Given the description of an element on the screen output the (x, y) to click on. 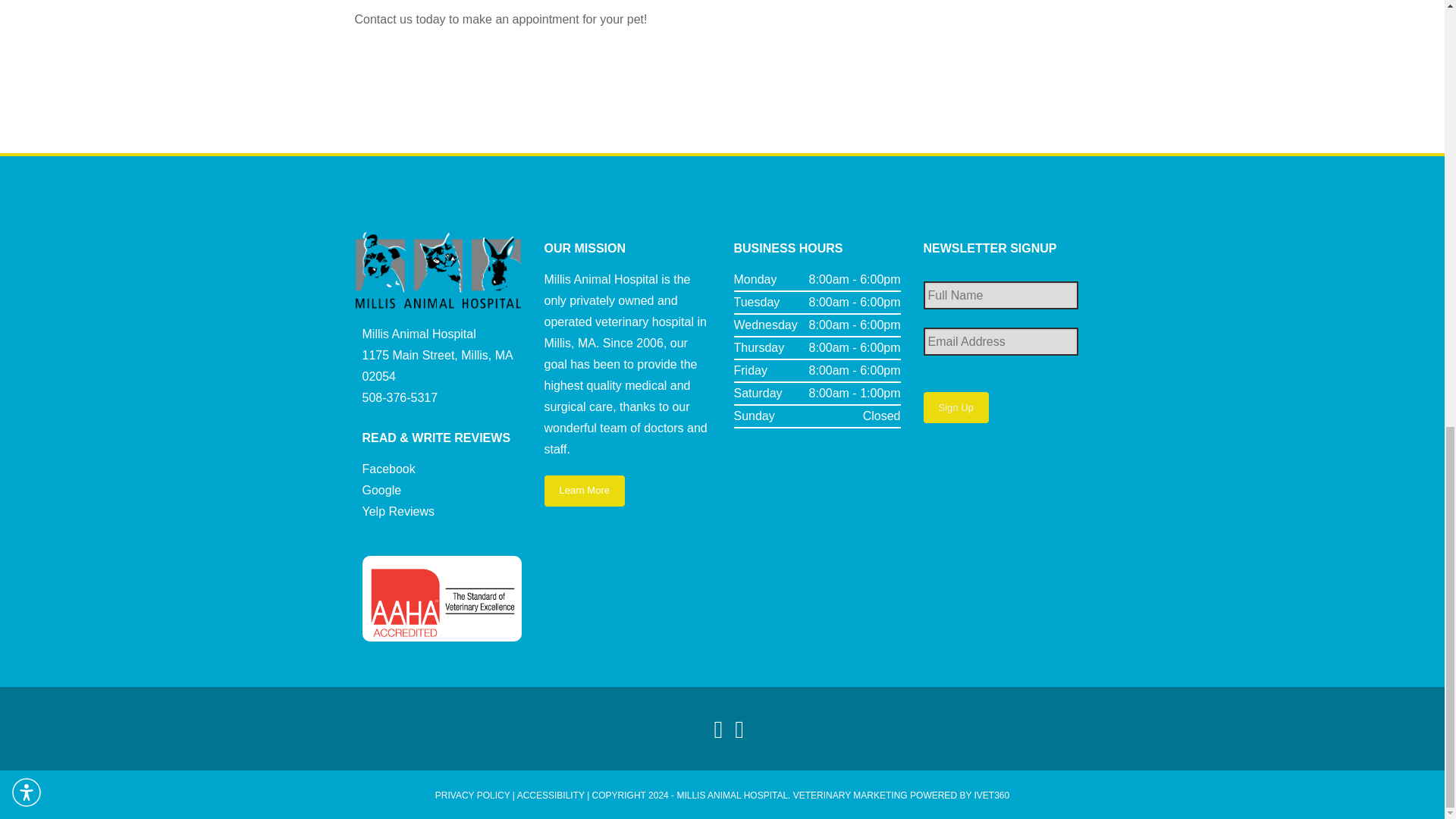
Sign Up (955, 407)
